Given the description of an element on the screen output the (x, y) to click on. 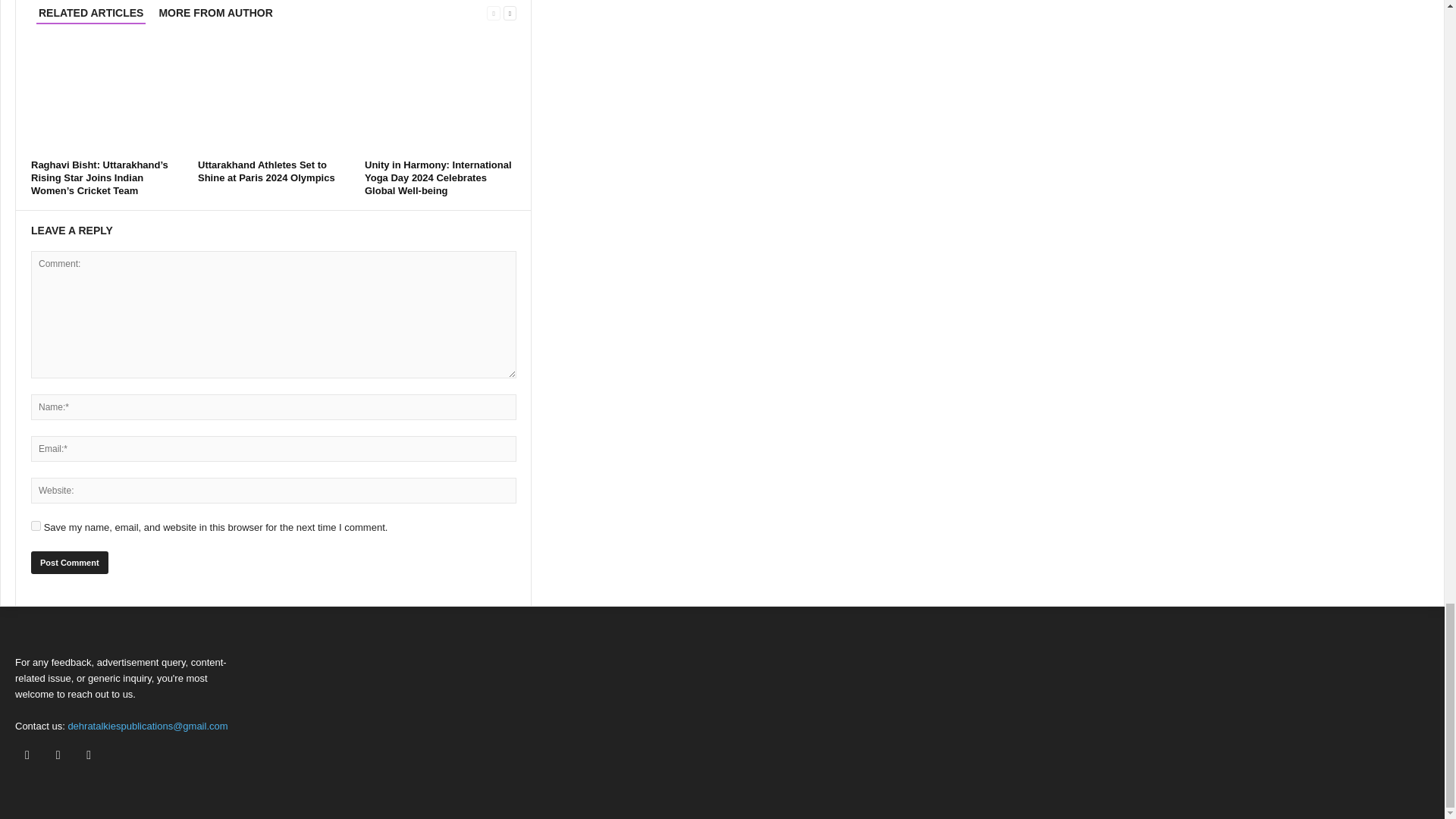
Post Comment (68, 562)
yes (35, 525)
Uttarakhand Athletes Set to Shine at Paris 2024 Olympics (273, 96)
Uttarakhand Athletes Set to Shine at Paris 2024 Olympics (266, 170)
